Given the description of an element on the screen output the (x, y) to click on. 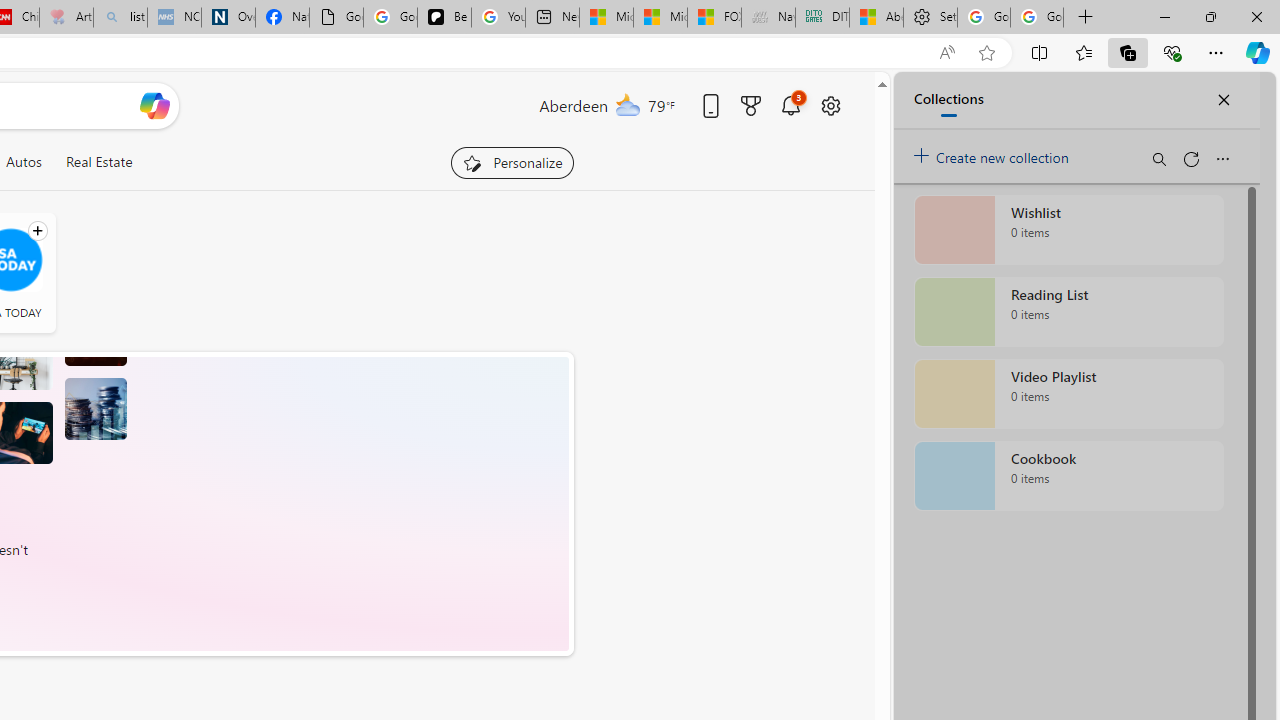
Real Estate (98, 161)
Real Estate (98, 162)
Arthritis: Ask Health Professionals - Sleeping (66, 17)
FOX News - MSN (714, 17)
Google Analytics Opt-out Browser Add-on Download Page (336, 17)
